Given the description of an element on the screen output the (x, y) to click on. 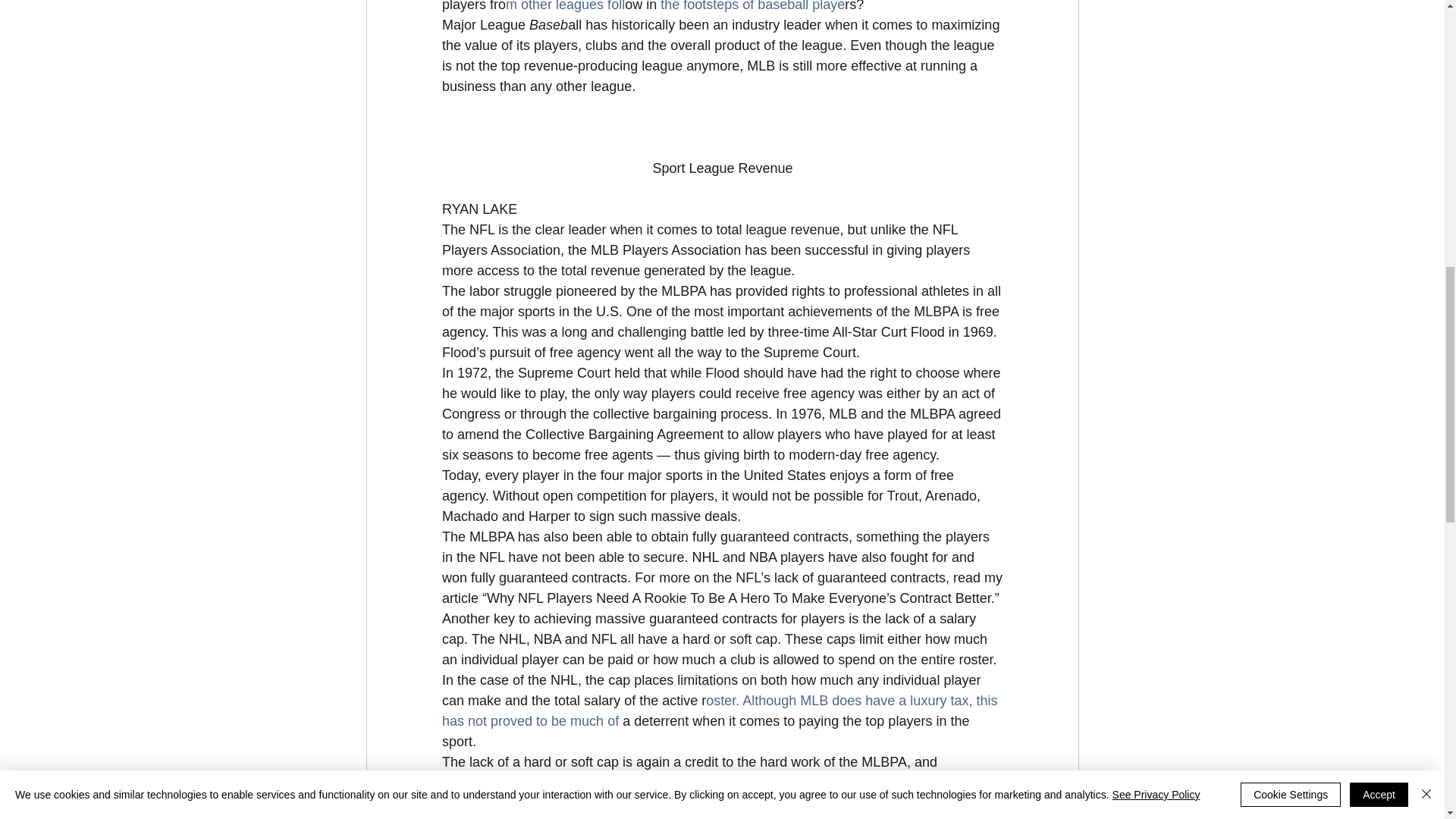
 the footsteps of baseball playe (750, 6)
m other leagues foll (564, 6)
